Given the description of an element on the screen output the (x, y) to click on. 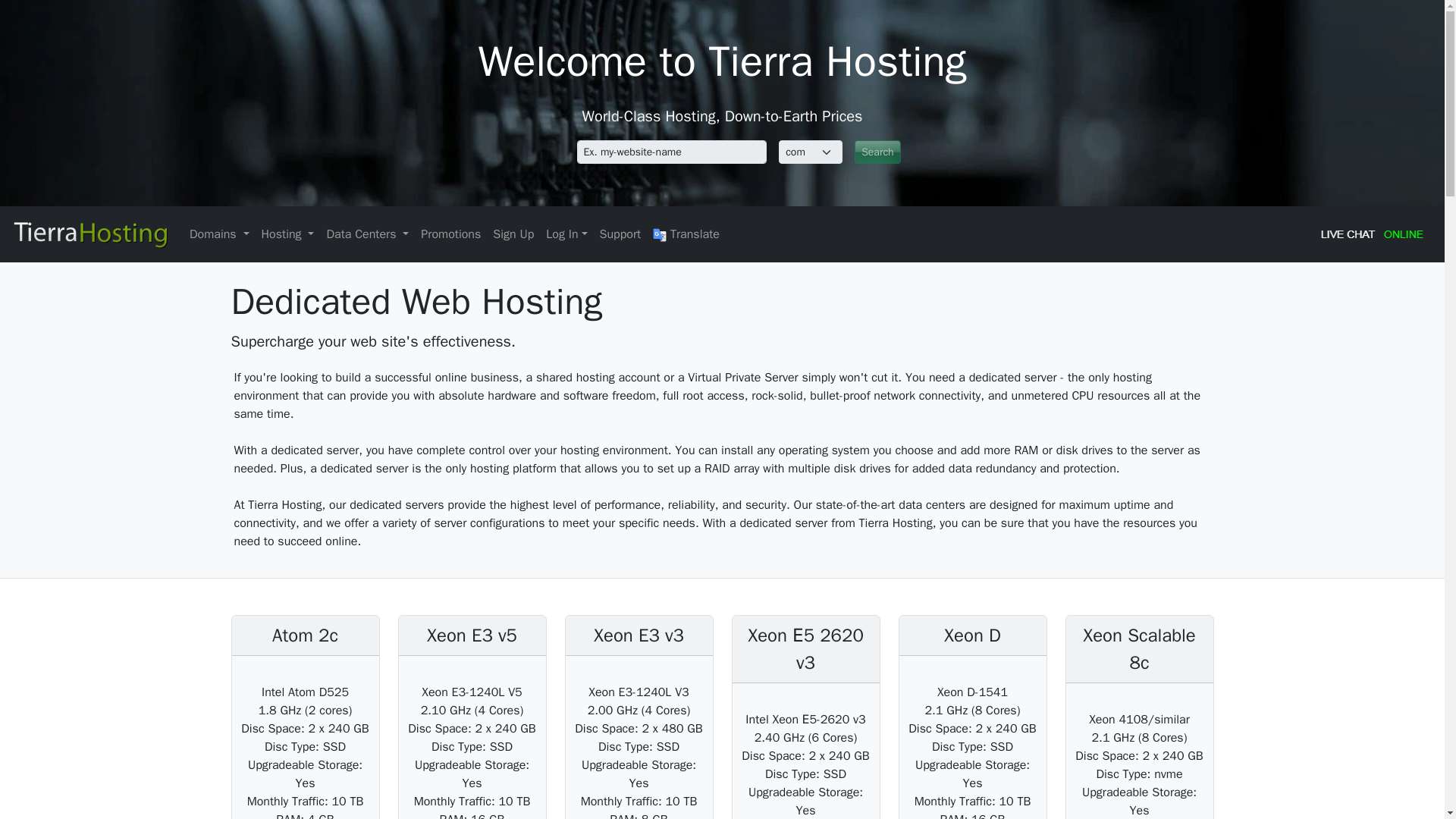
Hosting (288, 234)
Translate (685, 234)
text (671, 151)
Tierra Hosting (89, 234)
Search (877, 151)
Data Centers (367, 234)
Search (877, 151)
Support (620, 234)
Ex. my-website-name (671, 151)
Domains (219, 234)
Log In (566, 234)
Sign Up (513, 234)
Promotions (450, 234)
